Given the description of an element on the screen output the (x, y) to click on. 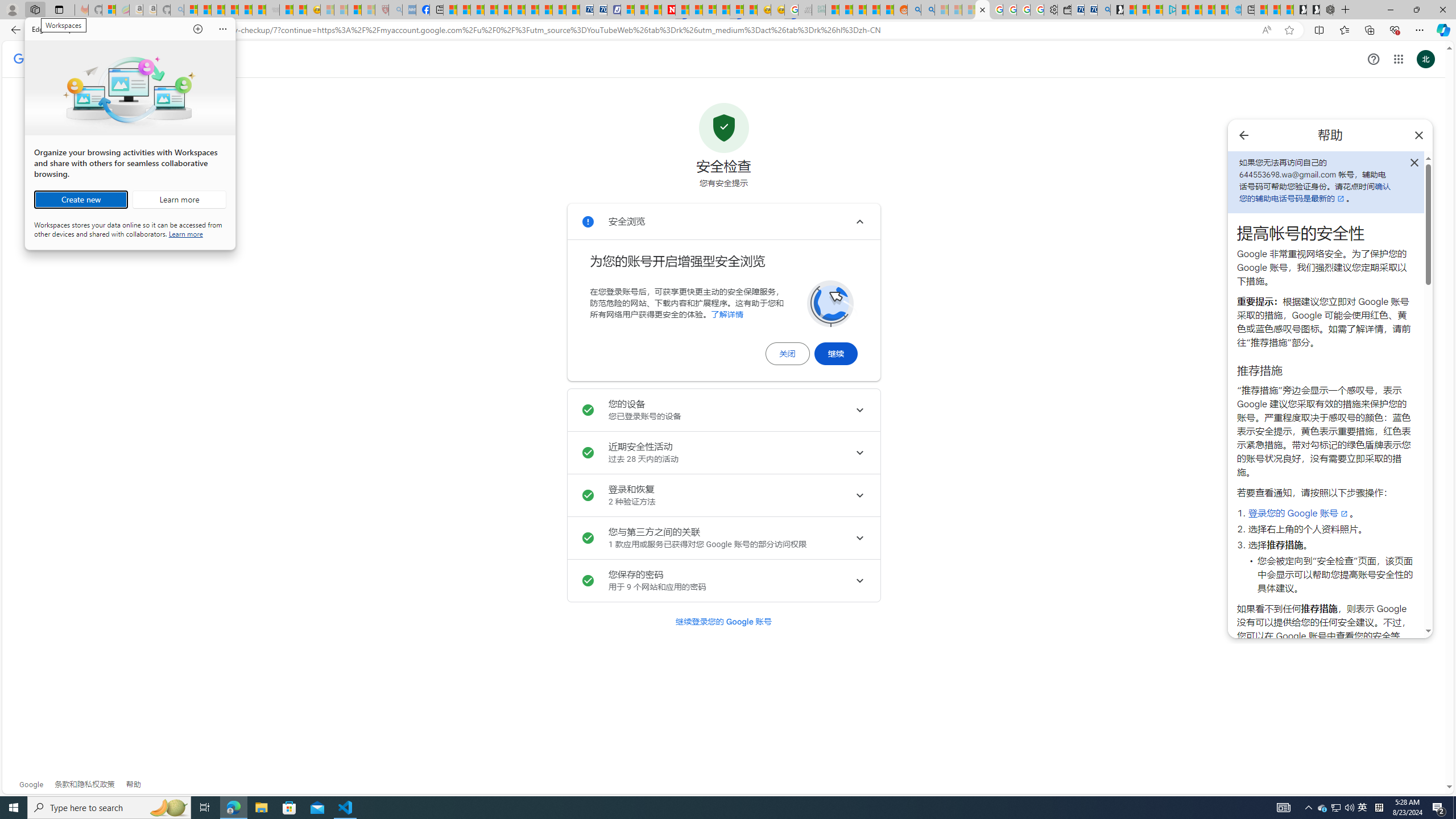
Show desktop (1454, 807)
Science - MSN (354, 9)
Visual Studio Code - 1 running window (345, 807)
Microsoft Start Gaming (1116, 9)
AutomationID: 4105 (1283, 807)
Climate Damage Becomes Too Severe To Reverse (490, 9)
